Given the description of an element on the screen output the (x, y) to click on. 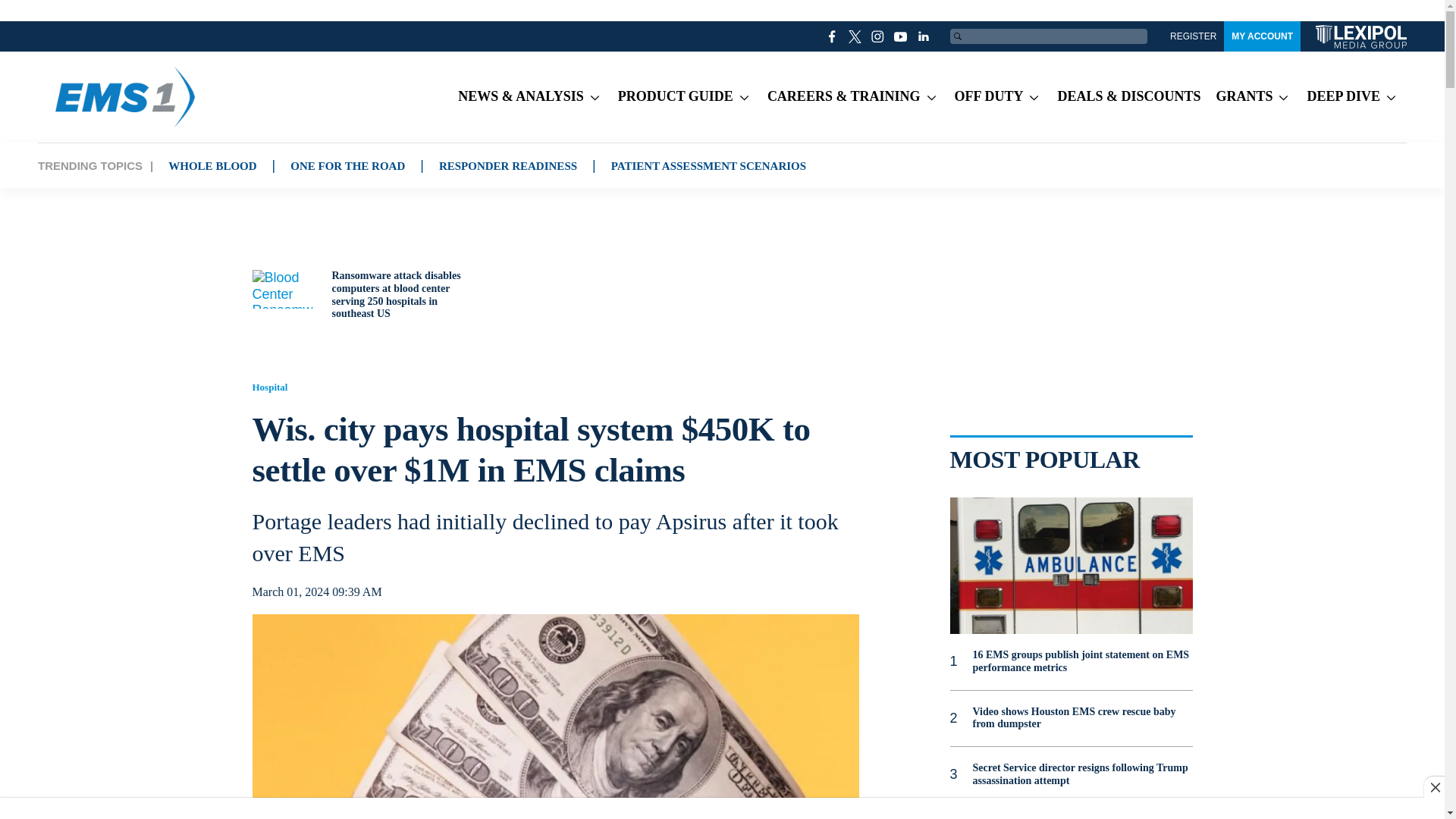
MY ACCOUNT (1262, 36)
linkedin (923, 36)
youtube (900, 36)
instagram (877, 36)
REGISTER (1192, 36)
twitter (855, 36)
facebook (832, 36)
